Given the description of an element on the screen output the (x, y) to click on. 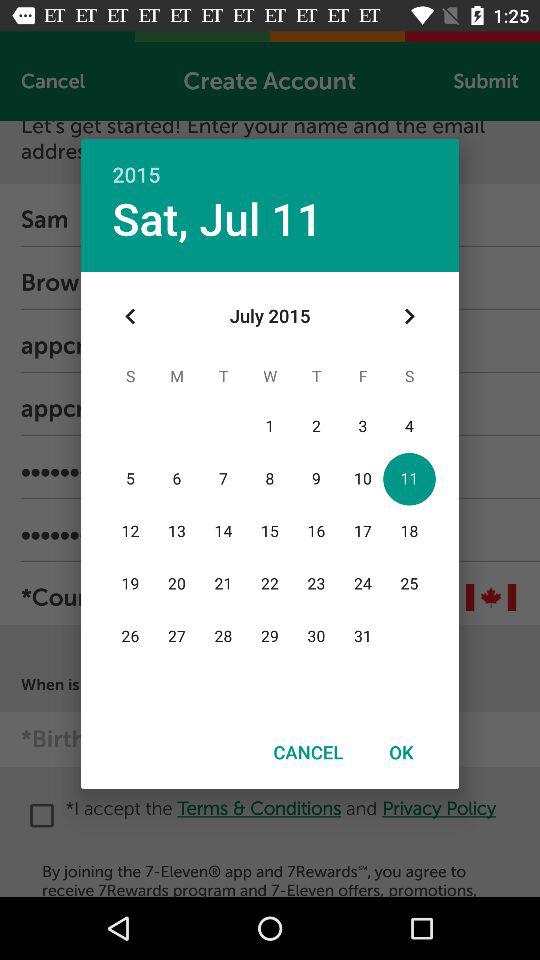
launch item below the 2015 icon (408, 316)
